Given the description of an element on the screen output the (x, y) to click on. 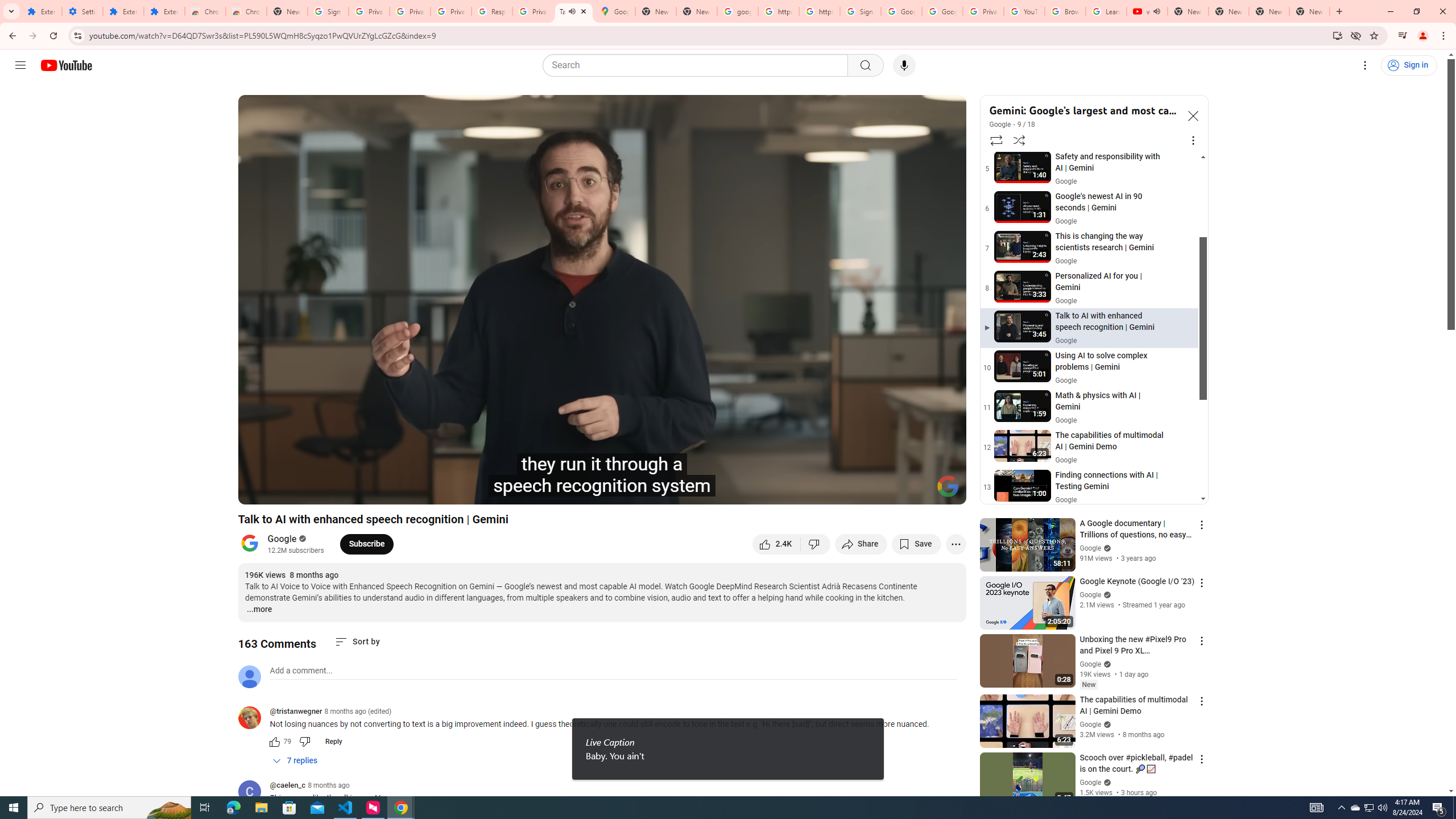
Loop playlist (995, 140)
@tristanwegner (295, 711)
Save to playlist (915, 543)
Channel watermark (947, 486)
